Given the description of an element on the screen output the (x, y) to click on. 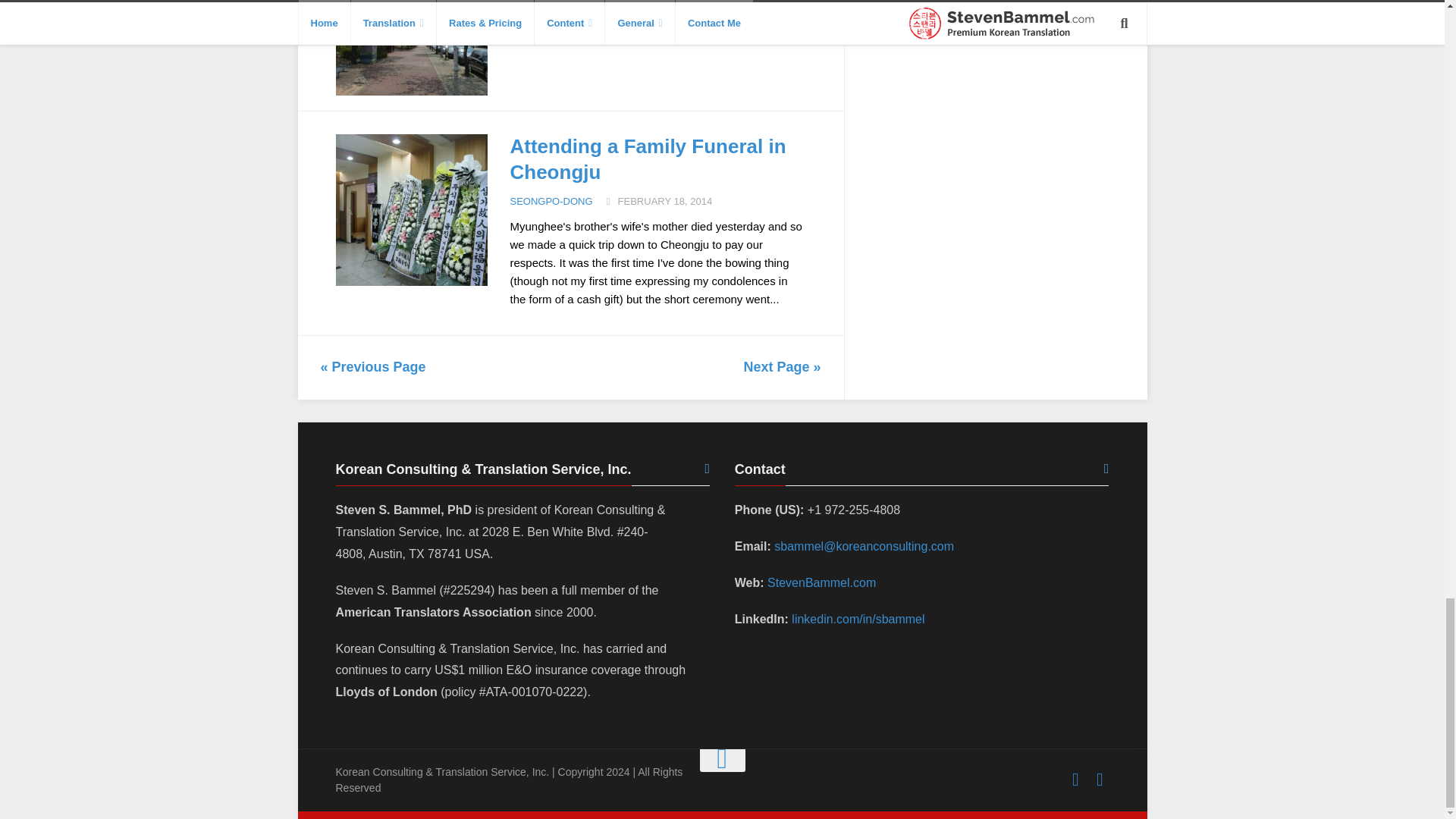
Email (1099, 779)
LinkedIn (1074, 779)
